Given the description of an element on the screen output the (x, y) to click on. 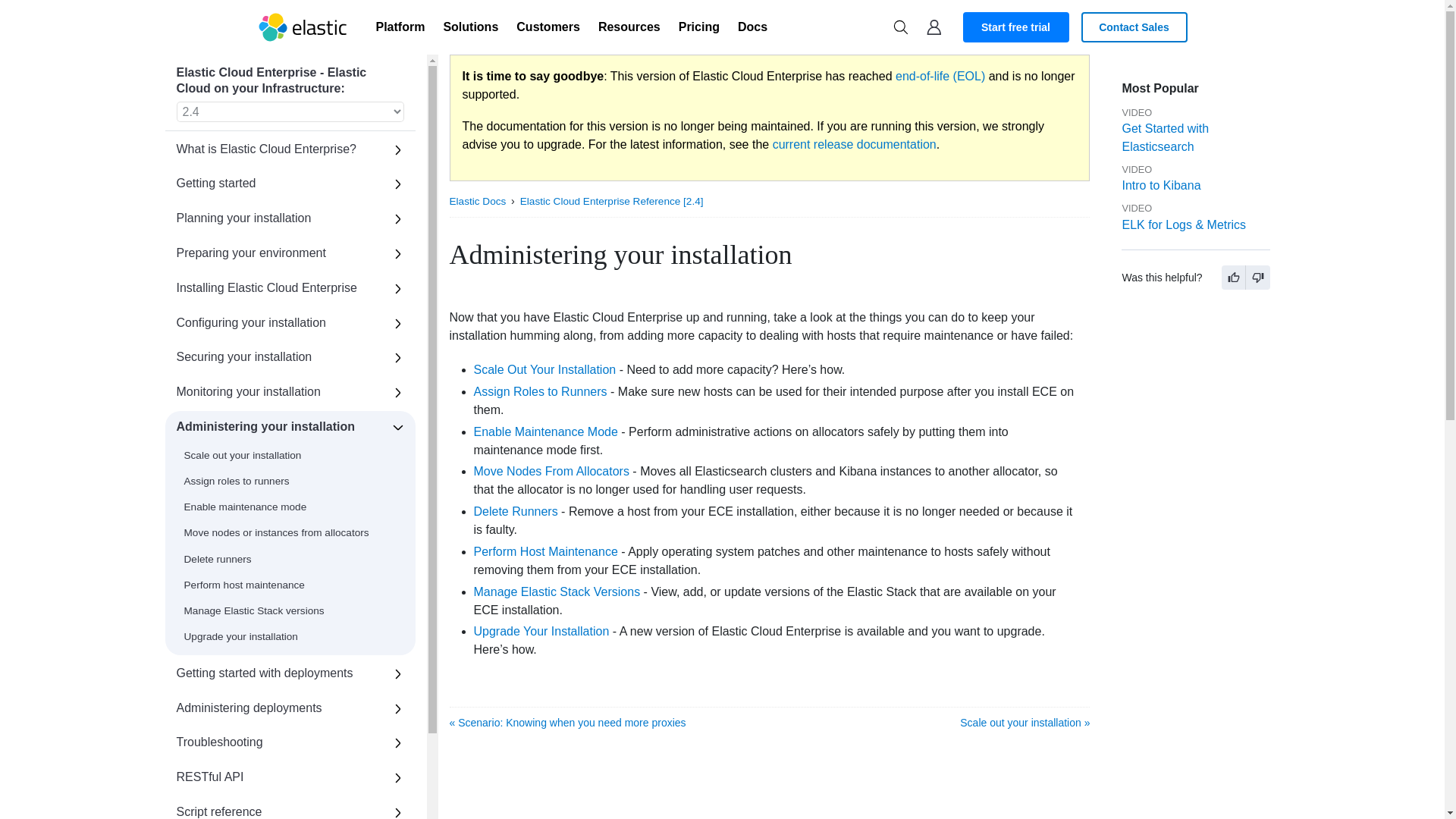
Perform host maintenance (545, 551)
Delete runners (515, 511)
Like (1233, 277)
Assign roles to runners (540, 391)
Solutions (469, 27)
Contact Sales (1134, 27)
Upgrade your installation (540, 631)
Move nodes or instances from allocators (550, 471)
Dislike (1257, 277)
Scale out your installation (544, 369)
Enable maintenance mode (545, 431)
Login (933, 27)
Platform (399, 27)
Start free trial (1015, 27)
Elastic (303, 27)
